Given the description of an element on the screen output the (x, y) to click on. 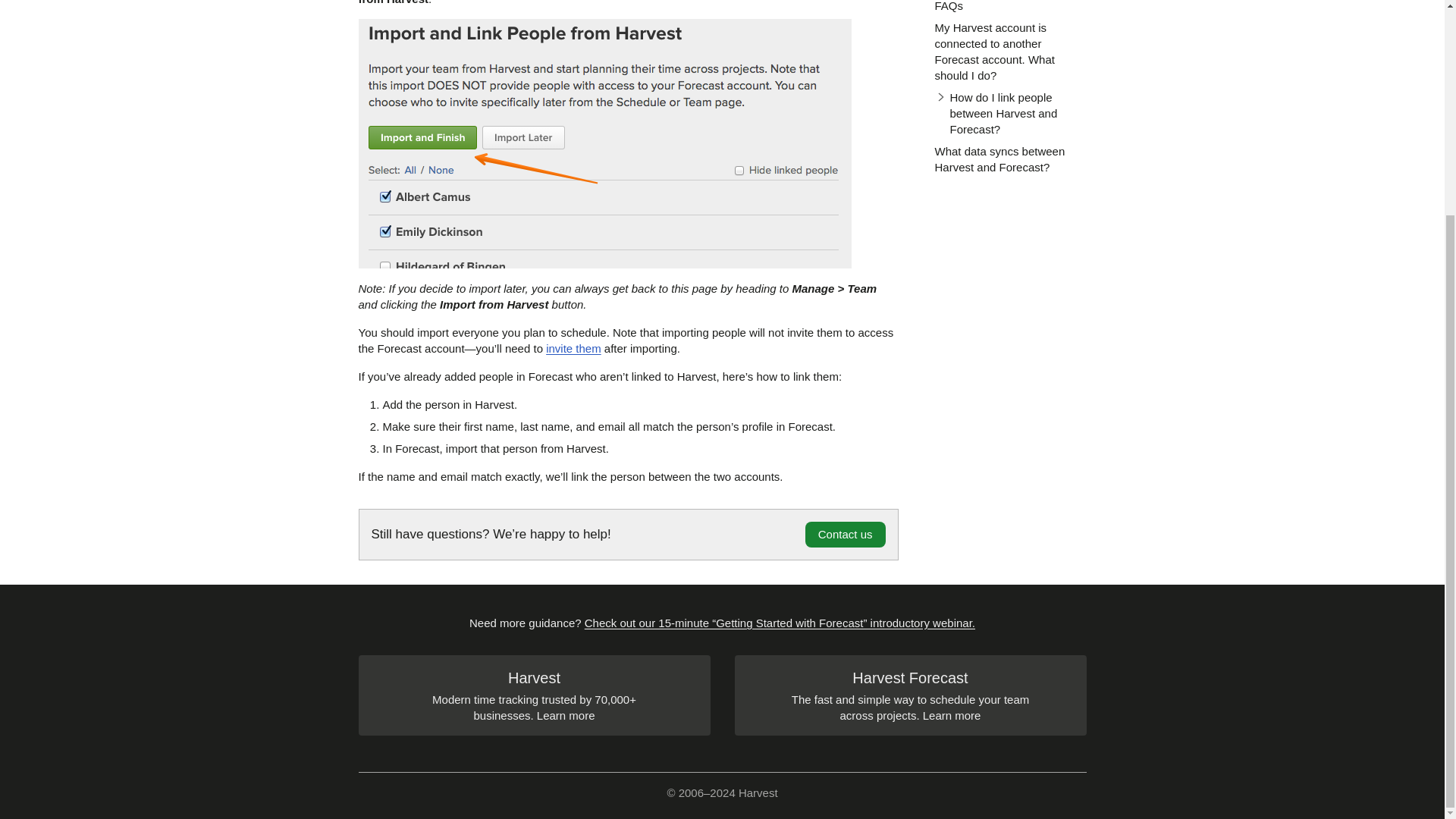
How do I link people between Harvest and Forecast? (1010, 113)
What data syncs between Harvest and Forecast? (999, 158)
Contact us (845, 534)
invite them (573, 348)
